Given the description of an element on the screen output the (x, y) to click on. 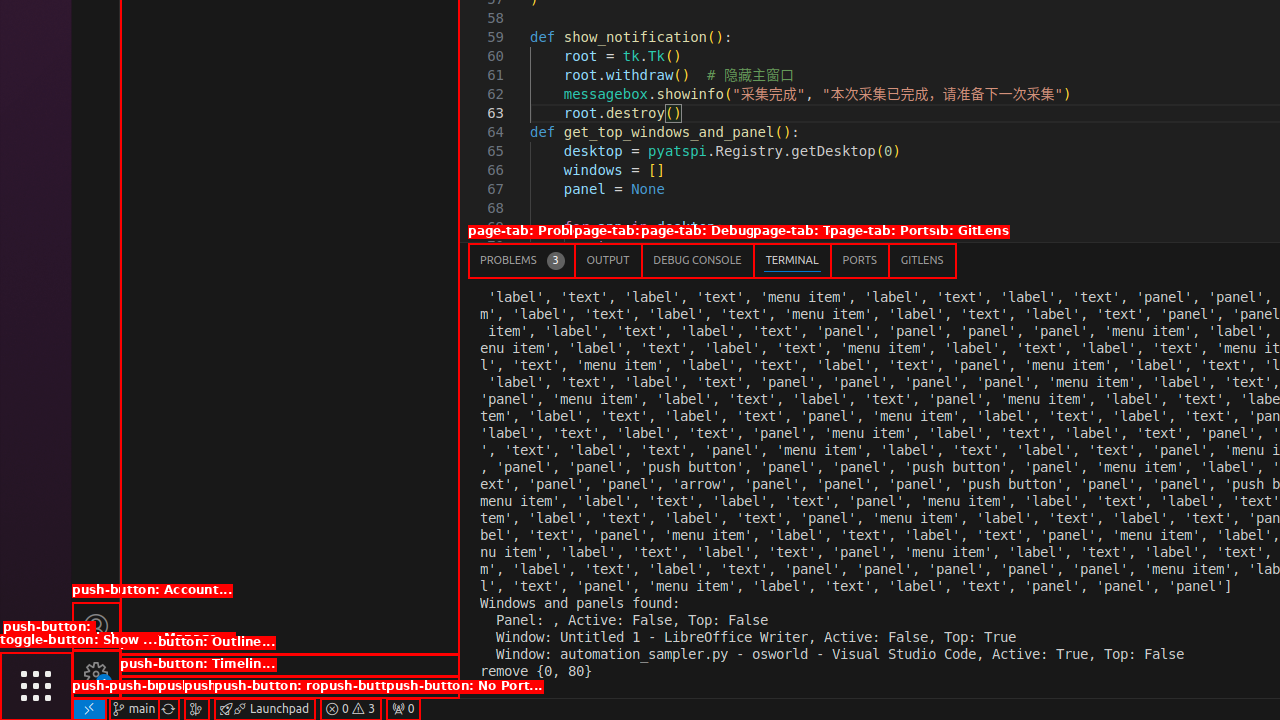
OSWorld (Git) - Synchronize Changes Element type: push-button (168, 709)
Show the GitLens Commit Graph Element type: push-button (196, 709)
Outline Section Element type: push-button (289, 665)
rocket gitlens-unplug Launchpad, GitLens Launchpad ᴘʀᴇᴠɪᴇᴡ    &mdash;    [$(question)](command:gitlens.launchpad.indicator.action?%22info%22 "What is this?") [$(gear)](command:workbench.action.openSettings?%22gitlens.launchpad%22 "Settings")  |  [$(circle-slash) Hide](command:gitlens.launchpad.indicator.action?%22hide%22 "Hide") --- [Launchpad](command:gitlens.launchpad.indicator.action?%info%22 "Learn about Launchpad") organizes your pull requests into actionable groups to help you focus and keep your team unblocked. It's always accessible using the `GitLens: Open Launchpad` command from the Command Palette. --- [Connect an integration](command:gitlens.showLaunchpad?%7B%22source%22%3A%22launchpad-indicator%22%7D "Connect an integration") to get started. Element type: push-button (264, 709)
Accounts Element type: push-button (96, 626)
